Given the description of an element on the screen output the (x, y) to click on. 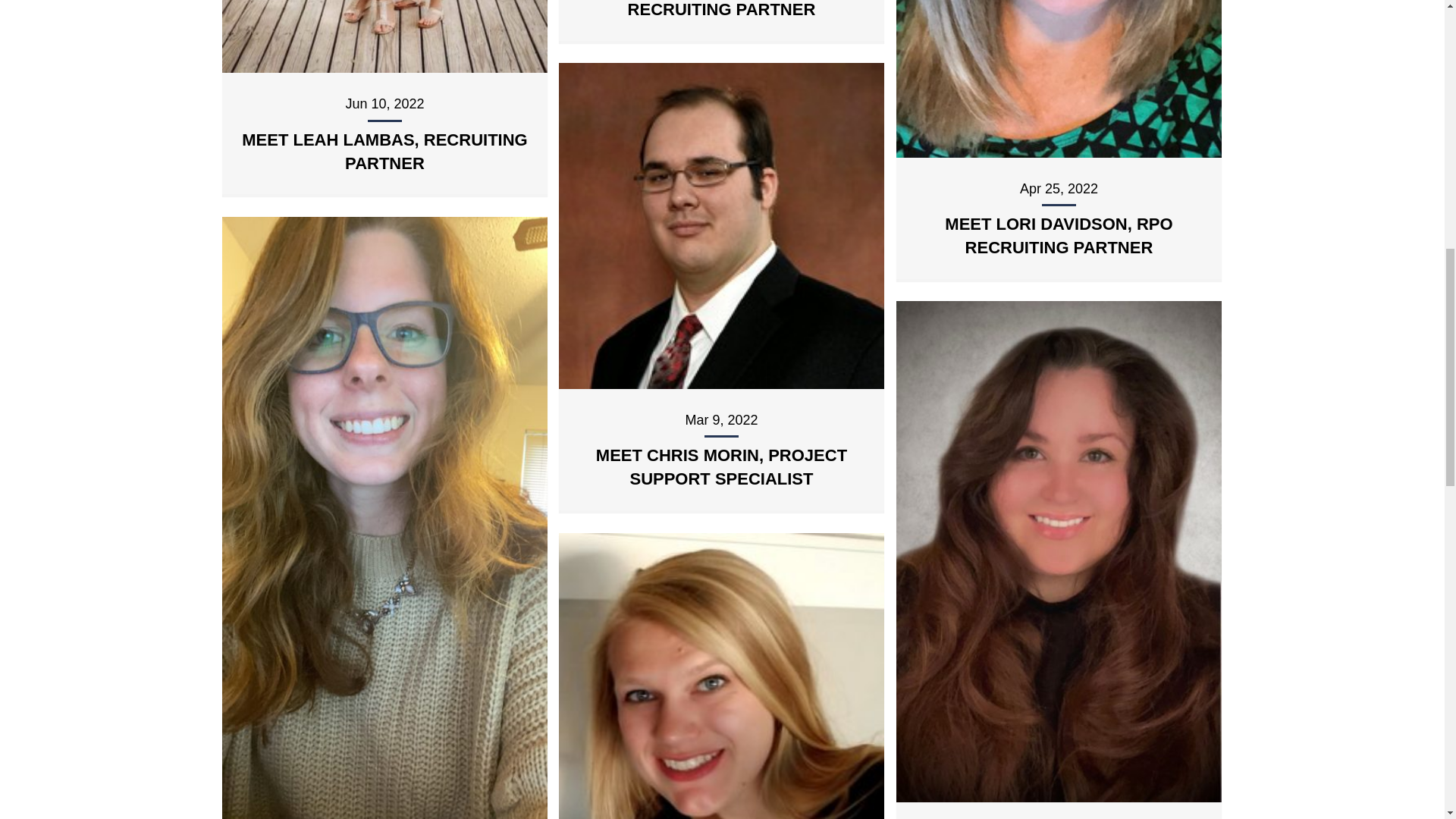
Meet Lori Davidson, RPO Recruiting Partner (1058, 235)
Meet Brandi Jackson, Project Support Specialist (1059, 550)
Meet Cade Feather, Recruiting Partner (721, 9)
MEET CHRIS MORIN, PROJECT SUPPORT SPECIALIST (721, 466)
Meet Allyson Davis, Project Support Specialist (384, 517)
MEET LEAH LAMBAS, RECRUITING PARTNER (384, 151)
Meet Chris Morin, Project Support Specialist (721, 466)
Meet Hannah Temple, Recruiter (720, 779)
Meet Chris Morin, Project Support Specialist (720, 224)
MEET LORI DAVIDSON, RPO RECRUITING PARTNER (1058, 235)
Meet Leah Lambas, Recruiting Partner (384, 151)
MEET CADE FEATHER, RECRUITING PARTNER (721, 9)
